Given the description of an element on the screen output the (x, y) to click on. 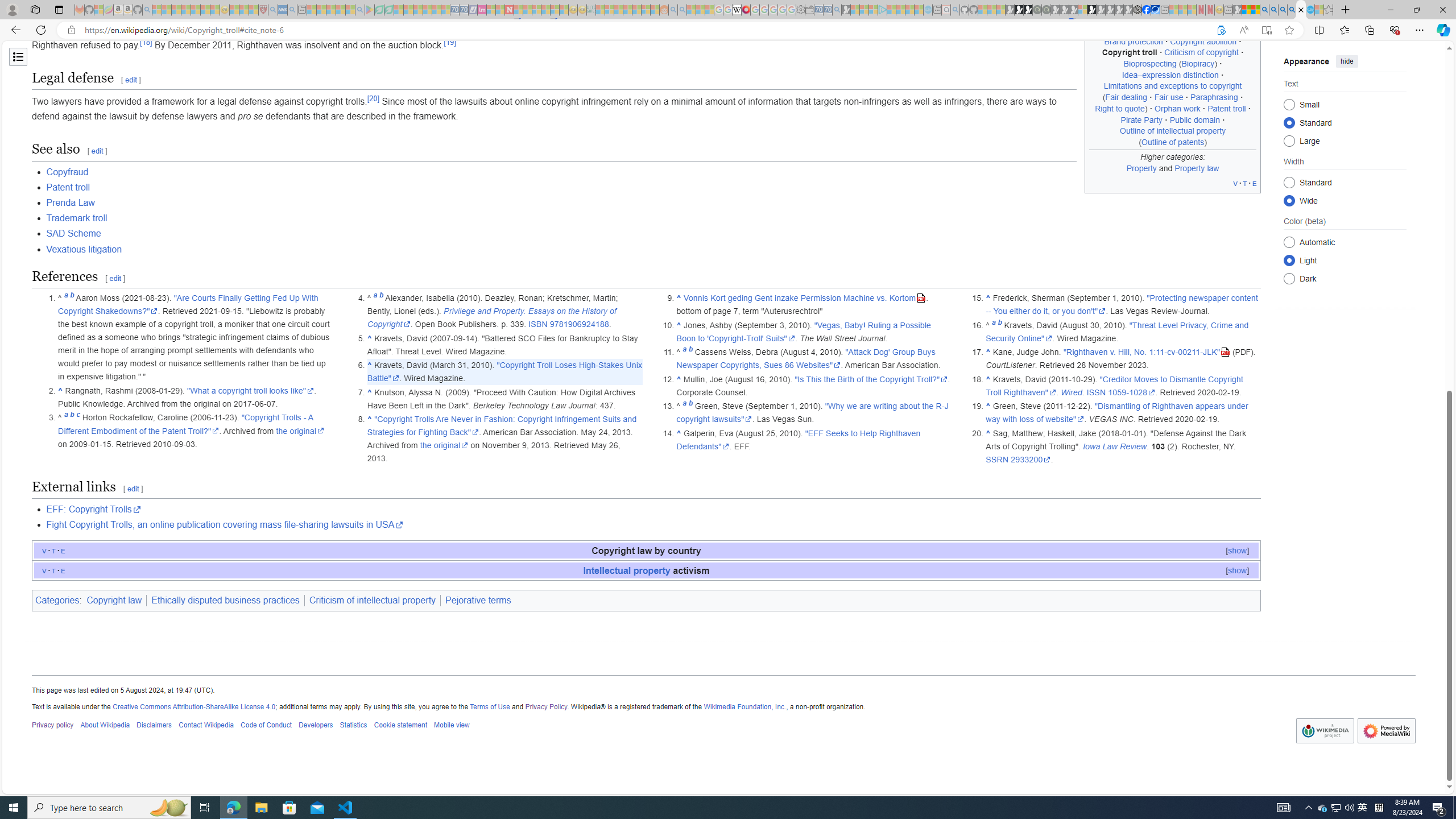
Code of Conduct (265, 725)
utah sues federal government - Search - Sleeping (291, 9)
Criticism of intellectual property (372, 600)
